Given the description of an element on the screen output the (x, y) to click on. 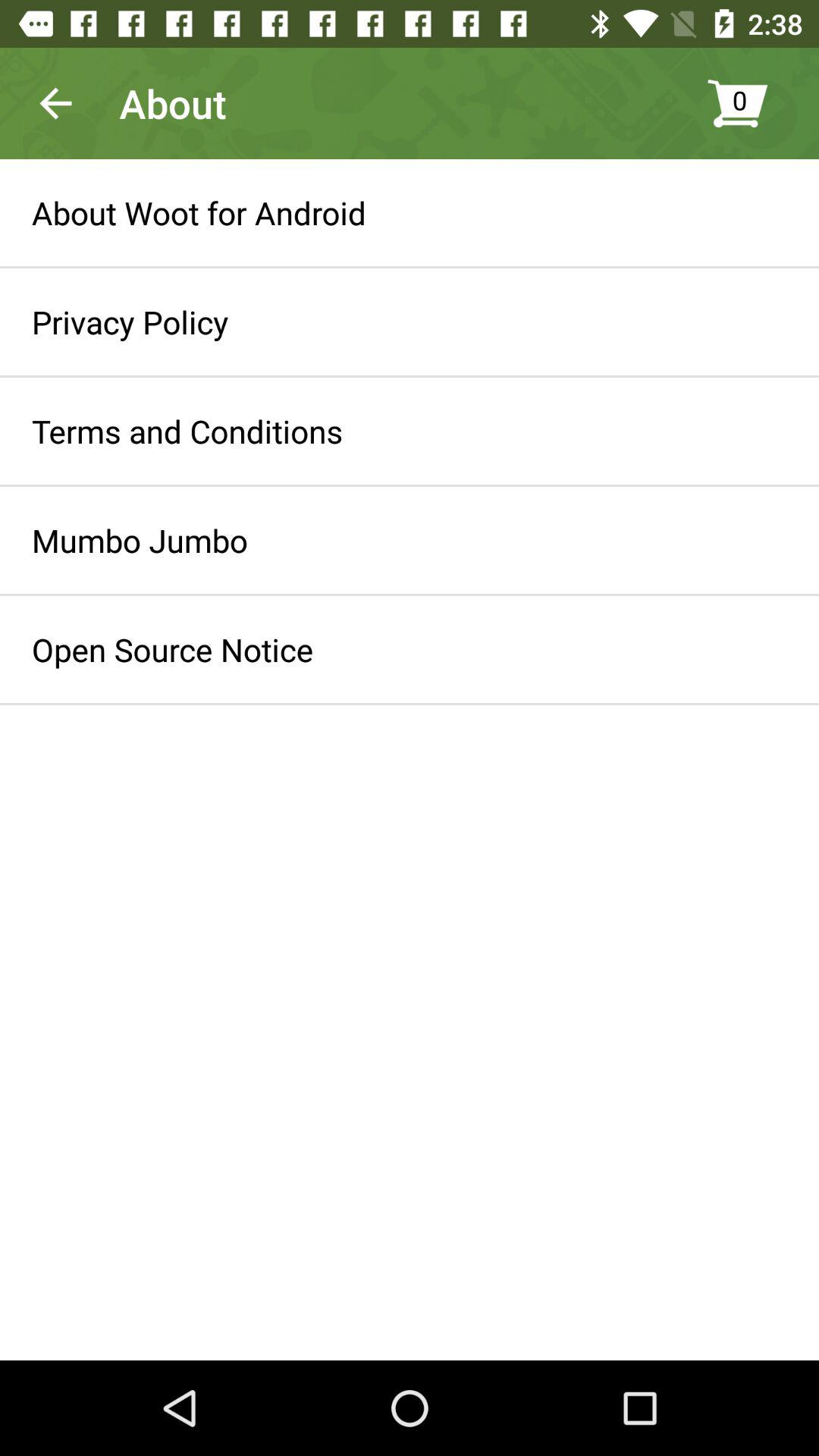
open the icon above terms and conditions icon (129, 321)
